Given the description of an element on the screen output the (x, y) to click on. 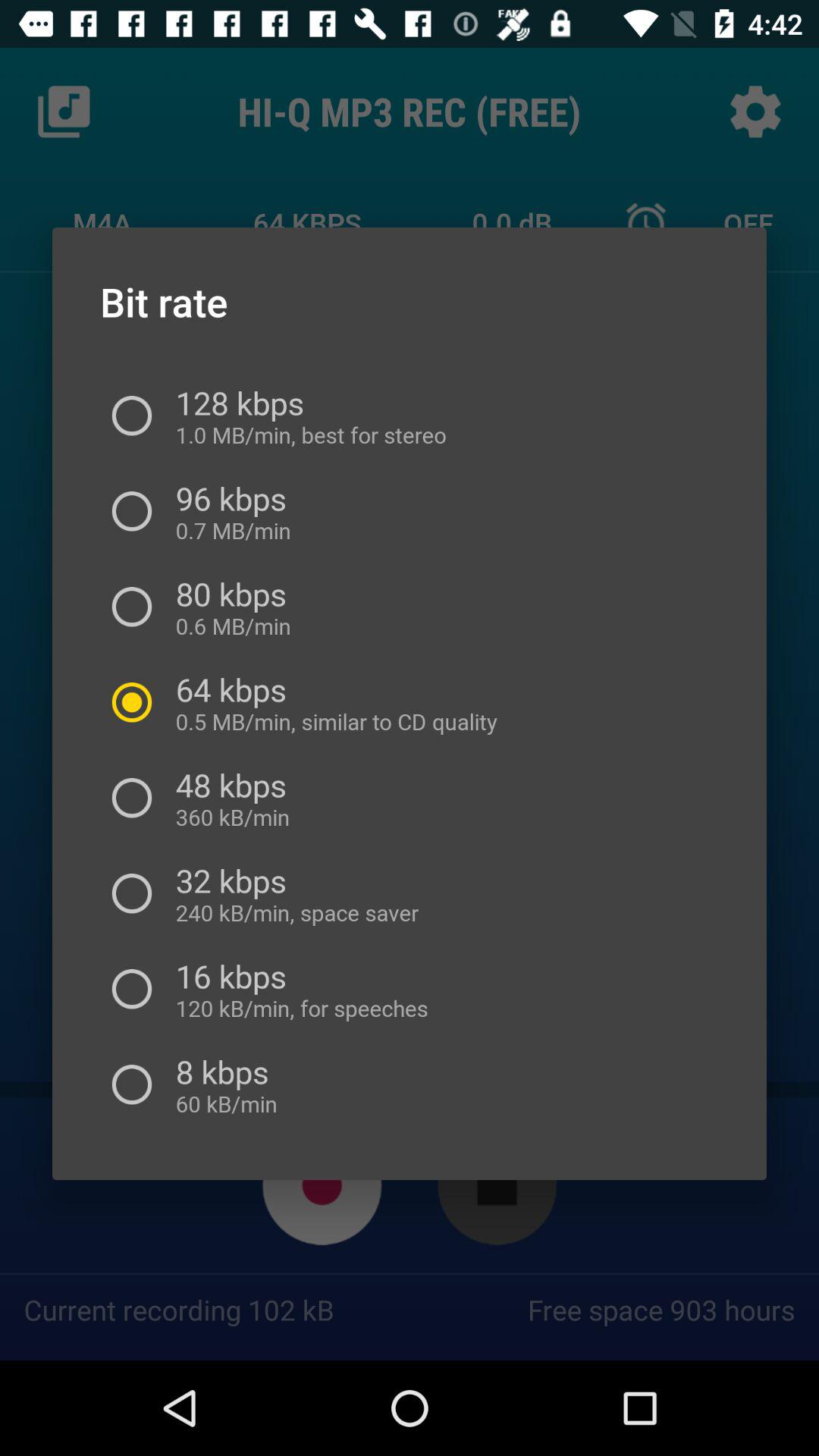
flip until 16 kbps 120 (295, 988)
